Given the description of an element on the screen output the (x, y) to click on. 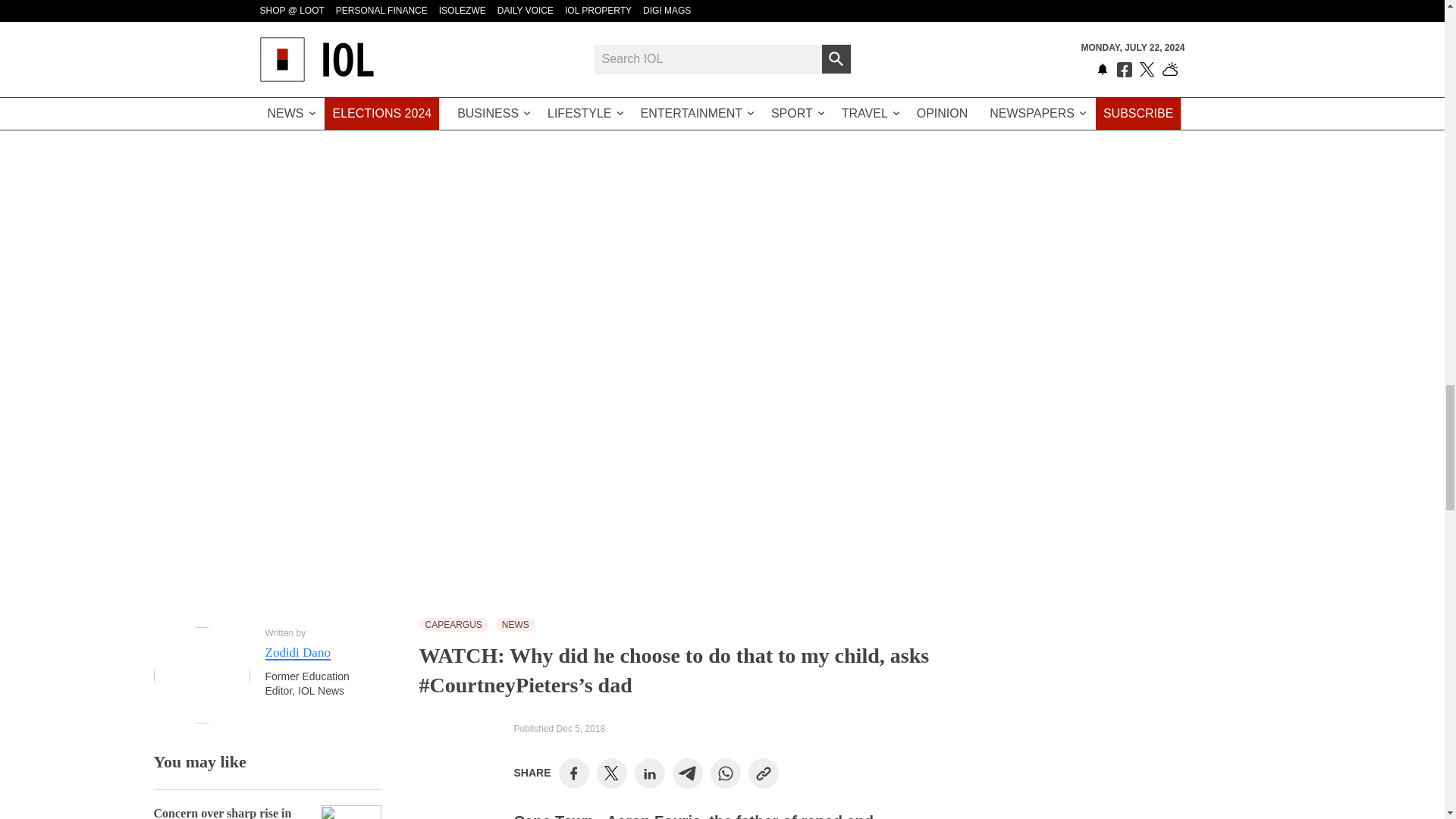
Share on Twitter (611, 773)
Share on Telegram (686, 773)
Share on WhatsApp (725, 773)
Share on LinkedIn (648, 773)
Copy to Clipboard (763, 773)
Share on Facebook (573, 773)
